Given the description of an element on the screen output the (x, y) to click on. 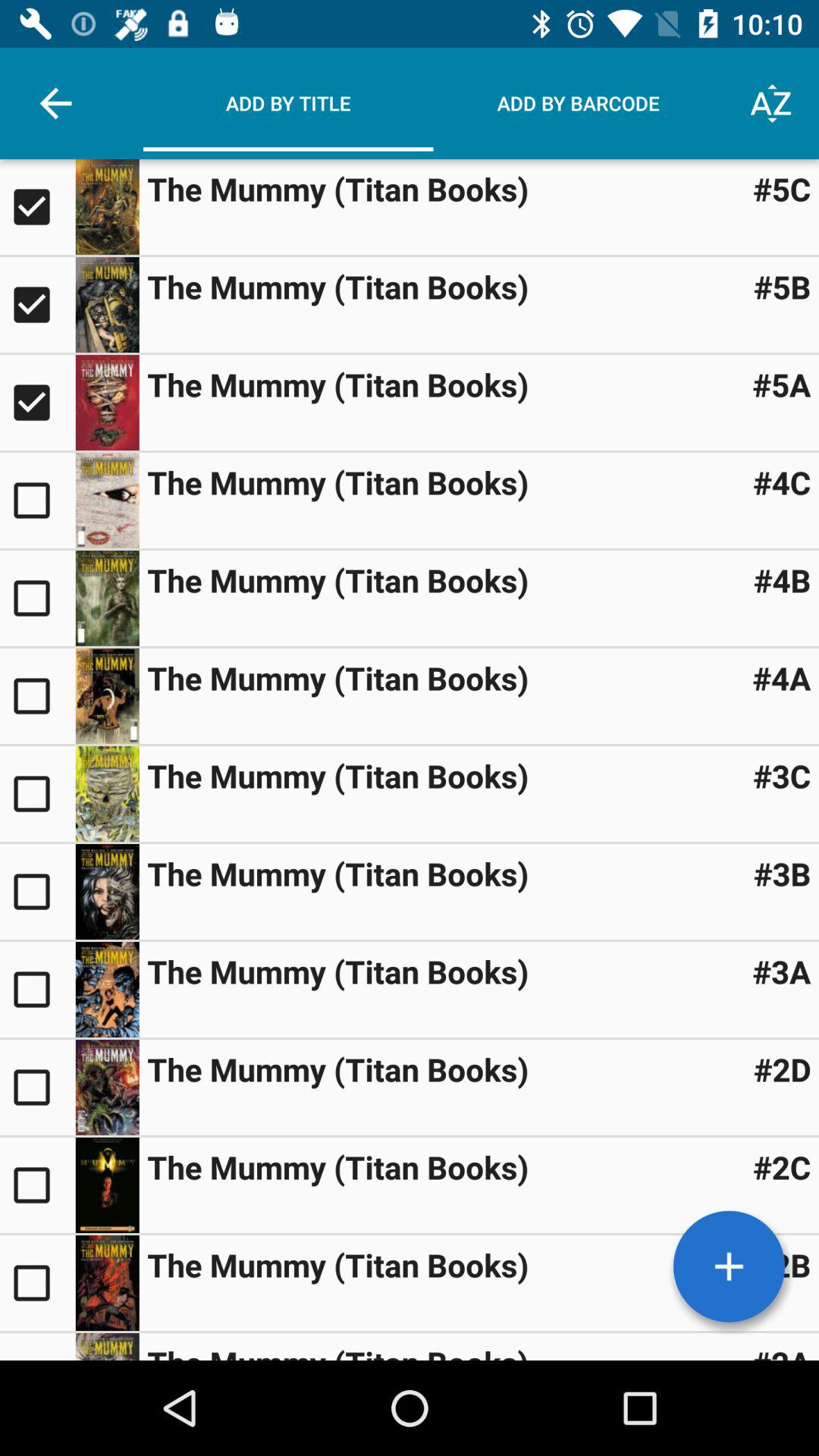
select image to enlarge (107, 598)
